Given the description of an element on the screen output the (x, y) to click on. 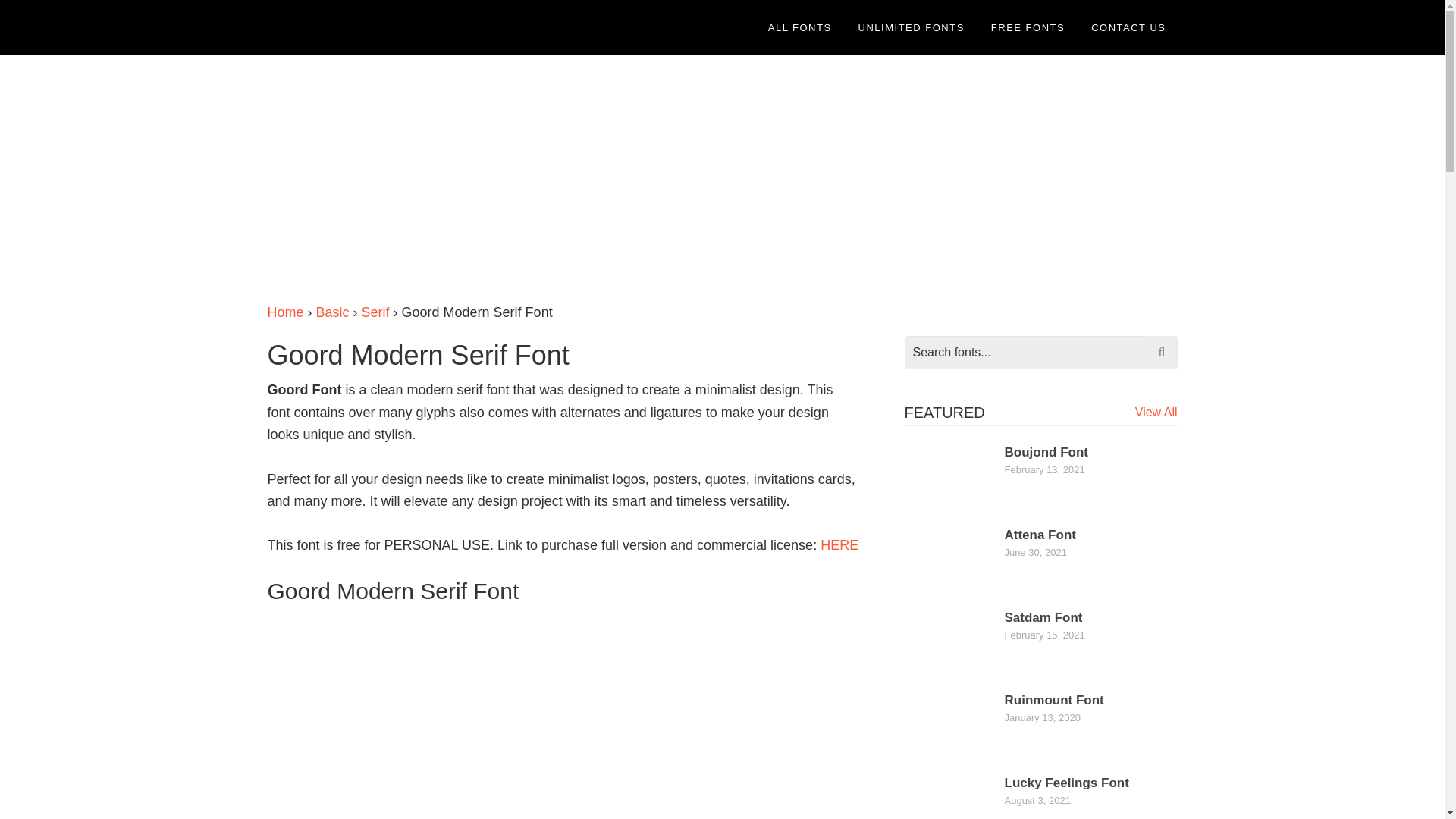
FREE FONTS (1027, 27)
Basic (332, 312)
HERE (840, 544)
UNLIMITED FONTS (911, 27)
Serif (375, 312)
Home (284, 312)
ALL FONTS (800, 27)
CONTACT US (1128, 27)
